Given the description of an element on the screen output the (x, y) to click on. 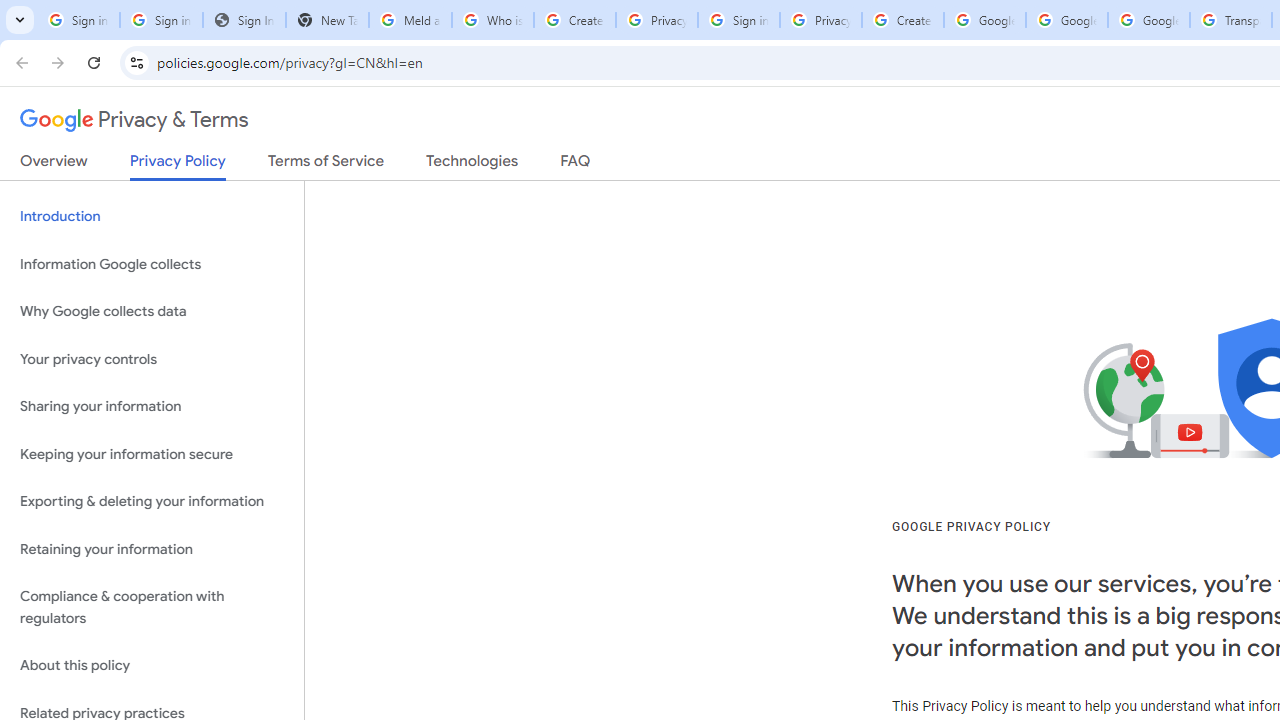
New Tab (326, 20)
Why Google collects data (152, 312)
About this policy (152, 666)
Create your Google Account (574, 20)
Compliance & cooperation with regulators (152, 607)
Create your Google Account (902, 20)
